Given the description of an element on the screen output the (x, y) to click on. 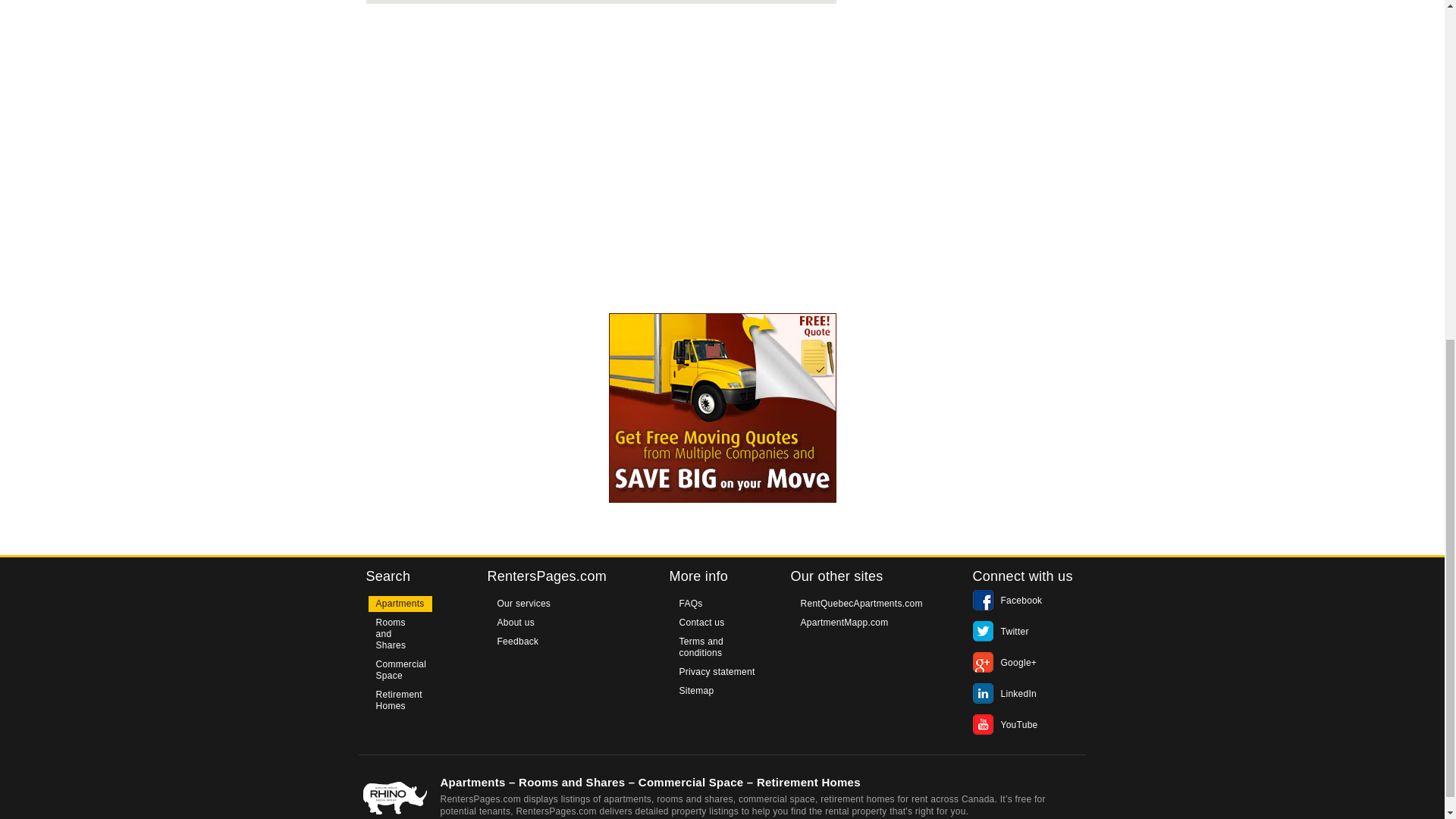
Retirement Homes (398, 700)
Contact us (701, 622)
Terms and conditions (722, 646)
Sitemap (696, 691)
Our services (524, 603)
FAQs (690, 603)
Privacy statement (716, 672)
LinkedIn (1004, 693)
Feedback (518, 641)
Moving Quotes (721, 407)
